Given the description of an element on the screen output the (x, y) to click on. 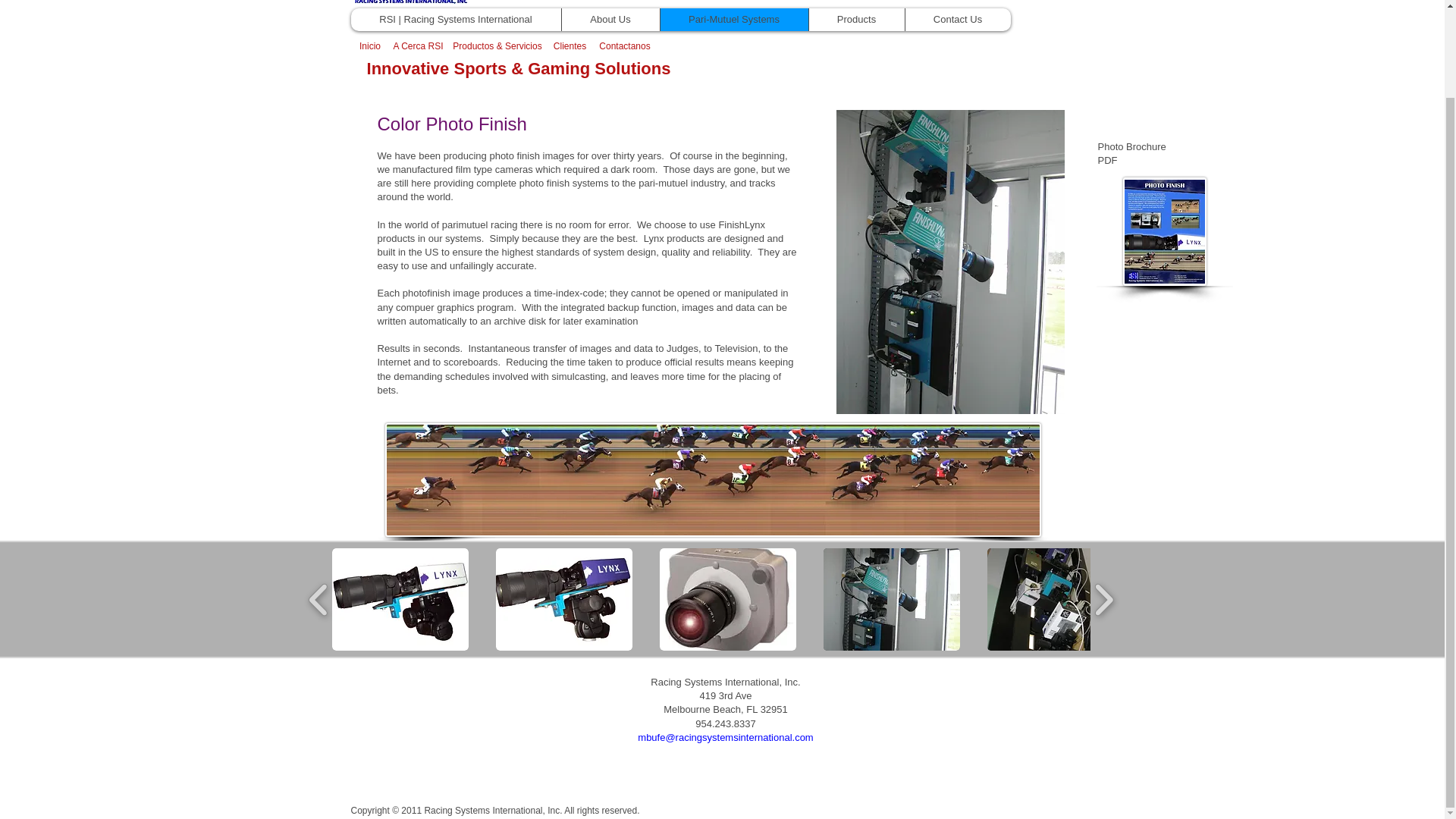
Contactanos (624, 46)
Products (856, 19)
Contact Us (957, 19)
A Cerca RSI (418, 46)
Pari-Mutuel Systems (733, 19)
About Us (609, 19)
Clientes (569, 46)
Inicio (369, 46)
